Given the description of an element on the screen output the (x, y) to click on. 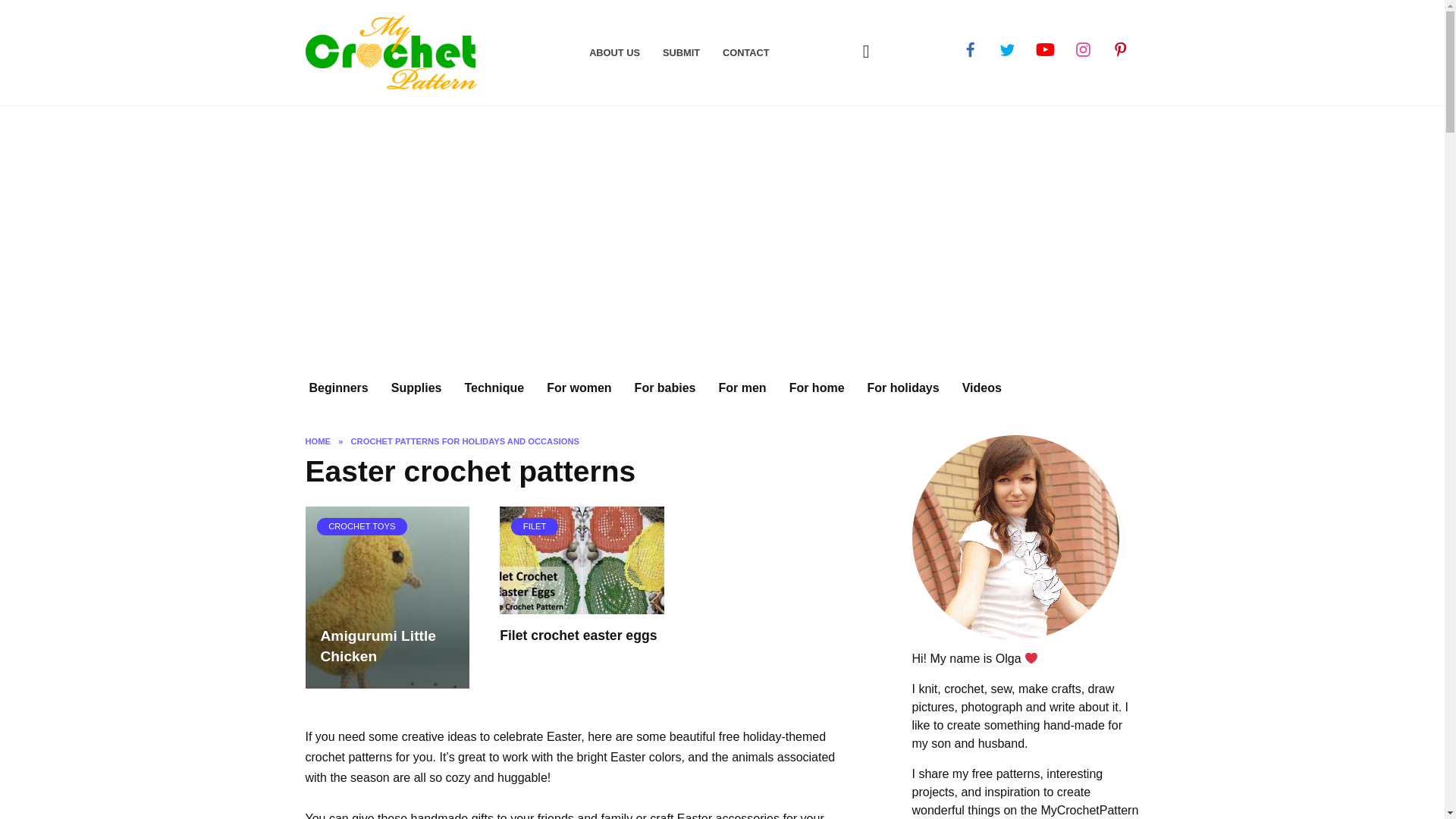
For women (579, 387)
CROCHET PATTERNS FOR HOLIDAYS AND OCCASIONS (464, 440)
Videos (981, 387)
For babies (665, 387)
Filet crochet easter eggs (577, 635)
SUBMIT (681, 52)
FILET (581, 560)
For men (742, 387)
Beginners (337, 387)
Technique (493, 387)
Amigurumi Little Chicken (377, 645)
CONTACT (746, 52)
For holidays (903, 387)
HOME (317, 440)
